Given the description of an element on the screen output the (x, y) to click on. 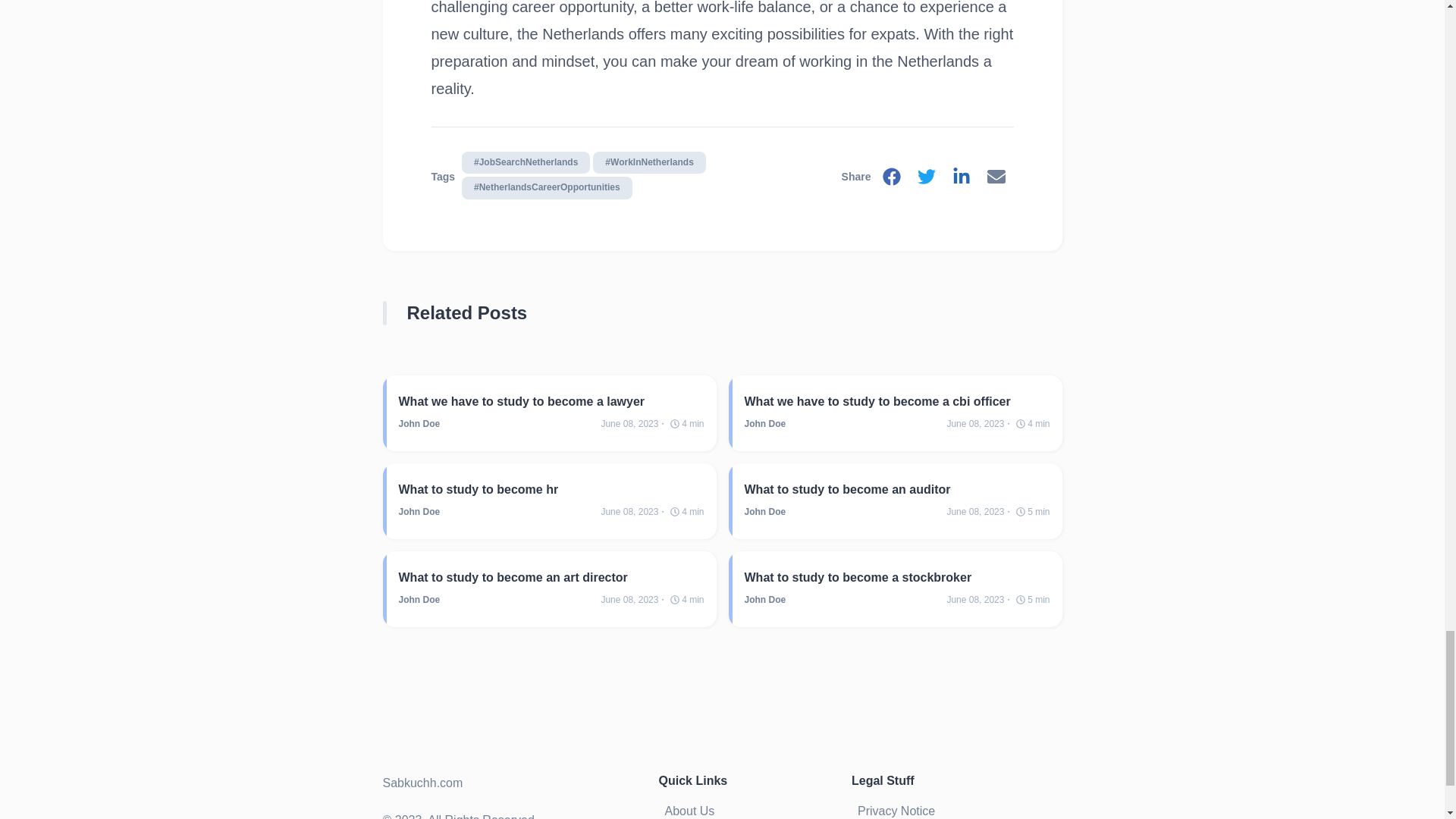
John Doe (419, 511)
What we have to study to become a cbi officer (896, 401)
What to study to become an auditor (896, 489)
John Doe (765, 511)
What to study to become an art director (551, 577)
John Doe (419, 599)
About Us (695, 809)
John Doe (419, 423)
John Doe (765, 599)
What we have to study to become a lawyer (551, 401)
